Given the description of an element on the screen output the (x, y) to click on. 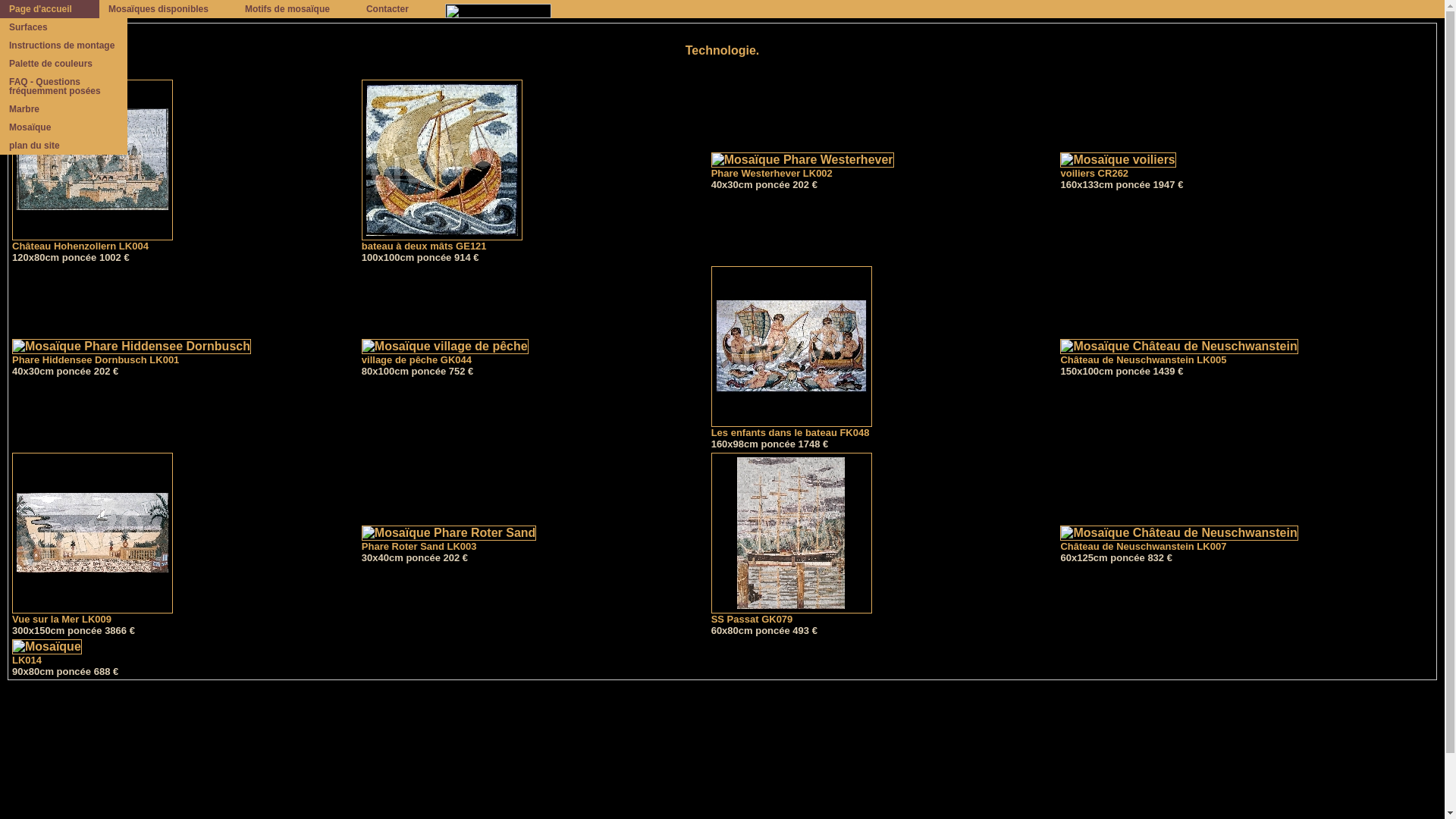
LK014 Element type: text (46, 652)
Instructions de montage Element type: text (63, 45)
Marbre Element type: text (63, 109)
Phare Westerhever LK002 Element type: text (802, 165)
Palette de couleurs Element type: text (63, 63)
Contacter Element type: text (396, 9)
choose language Element type: hover (507, 9)
Vue sur la Mer LK009 Element type: text (92, 613)
Surfaces Element type: text (63, 27)
voiliers CR262 Element type: text (1117, 165)
plan du site Element type: text (63, 145)
SS Passat GK079 Element type: text (791, 613)
Phare Roter Sand LK003 Element type: text (448, 539)
Les enfants dans le bateau FK048 Element type: text (791, 427)
Page d'accueil Element type: text (49, 9)
Phare Hiddensee Dornbusch LK001 Element type: text (131, 352)
